Given the description of an element on the screen output the (x, y) to click on. 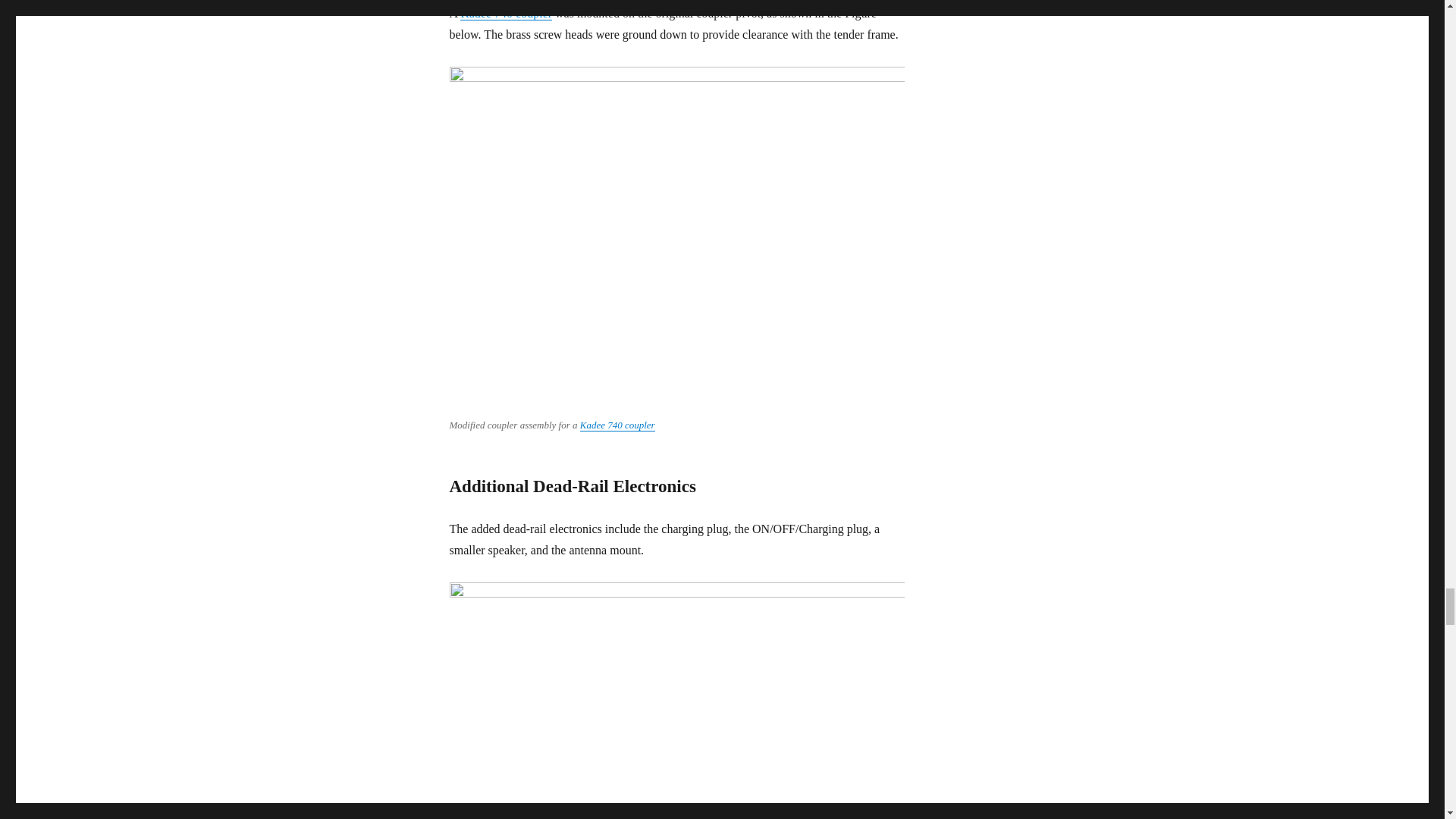
Kadee 740 coupler (617, 424)
Kadee 740 coupler (505, 12)
